Given the description of an element on the screen output the (x, y) to click on. 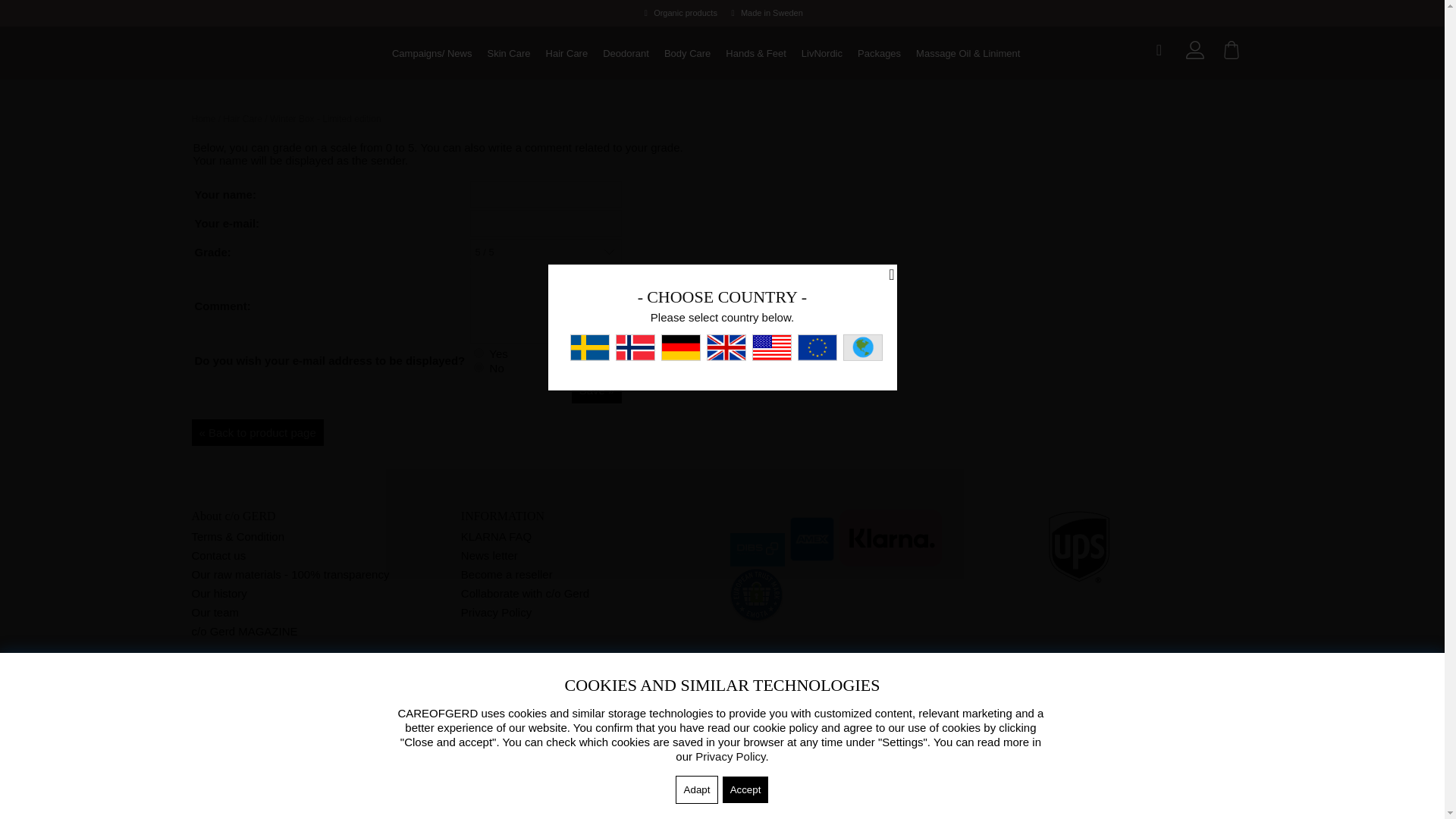
LivNordic (821, 53)
Skin Care (508, 53)
Hair Care (566, 53)
N (478, 367)
Body Care (686, 53)
Body Care (686, 53)
Hair Care (566, 53)
Packages (879, 53)
Y (478, 352)
Skin Care  (508, 53)
Deodorant (625, 53)
Deodorant (625, 53)
